Given the description of an element on the screen output the (x, y) to click on. 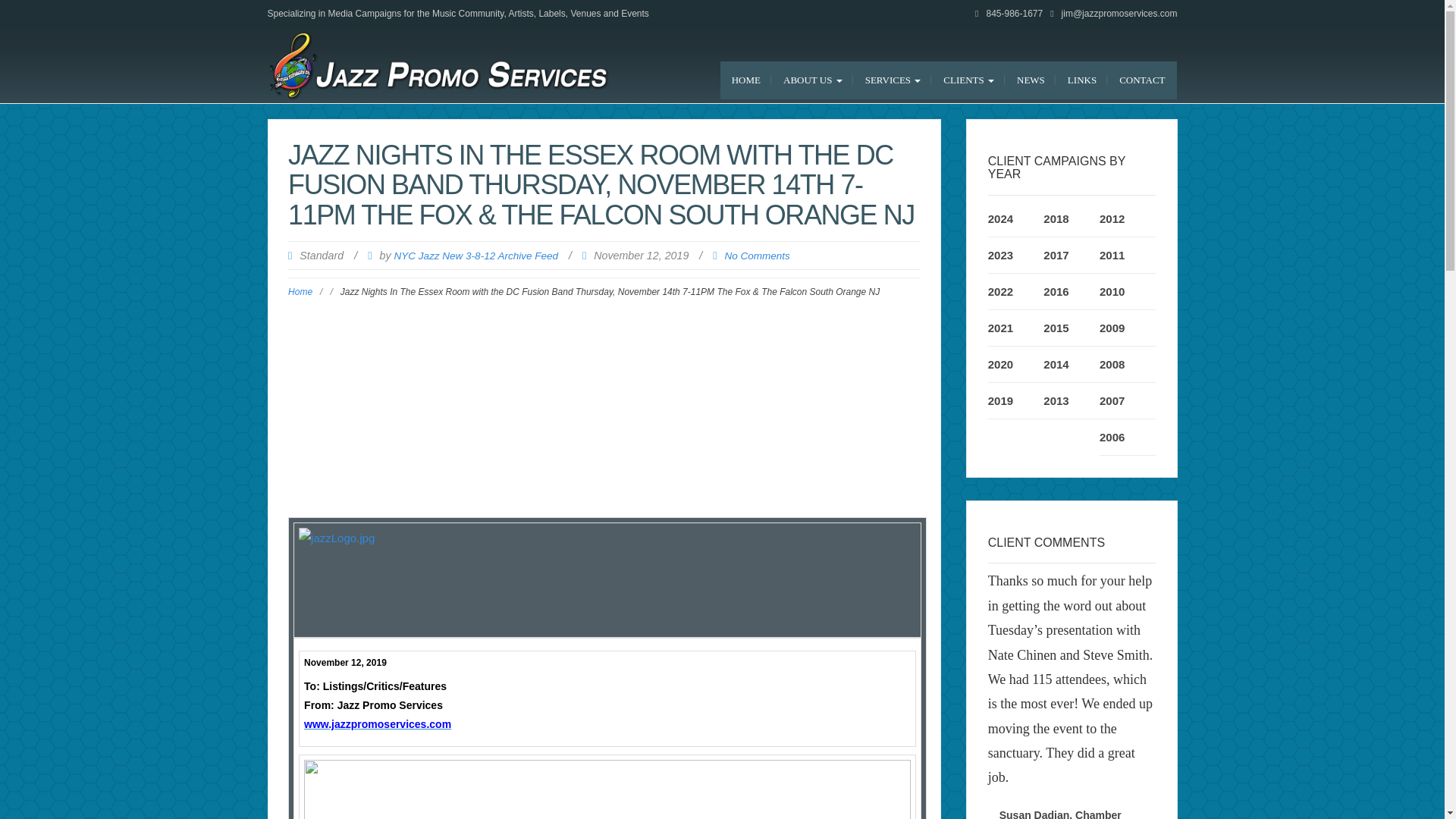
ABOUT US (812, 80)
Home (300, 291)
2023 (1000, 254)
LINKS (1082, 80)
Services (893, 80)
Home (745, 80)
NEWS (1031, 80)
About Us (812, 80)
NYC Jazz New 3-8-12 Archive Feed (475, 255)
HOME (745, 80)
News (1031, 80)
2024 (1000, 218)
CLIENTS (968, 80)
SERVICES (893, 80)
www.jazzpromoservices.com (377, 724)
